Given the description of an element on the screen output the (x, y) to click on. 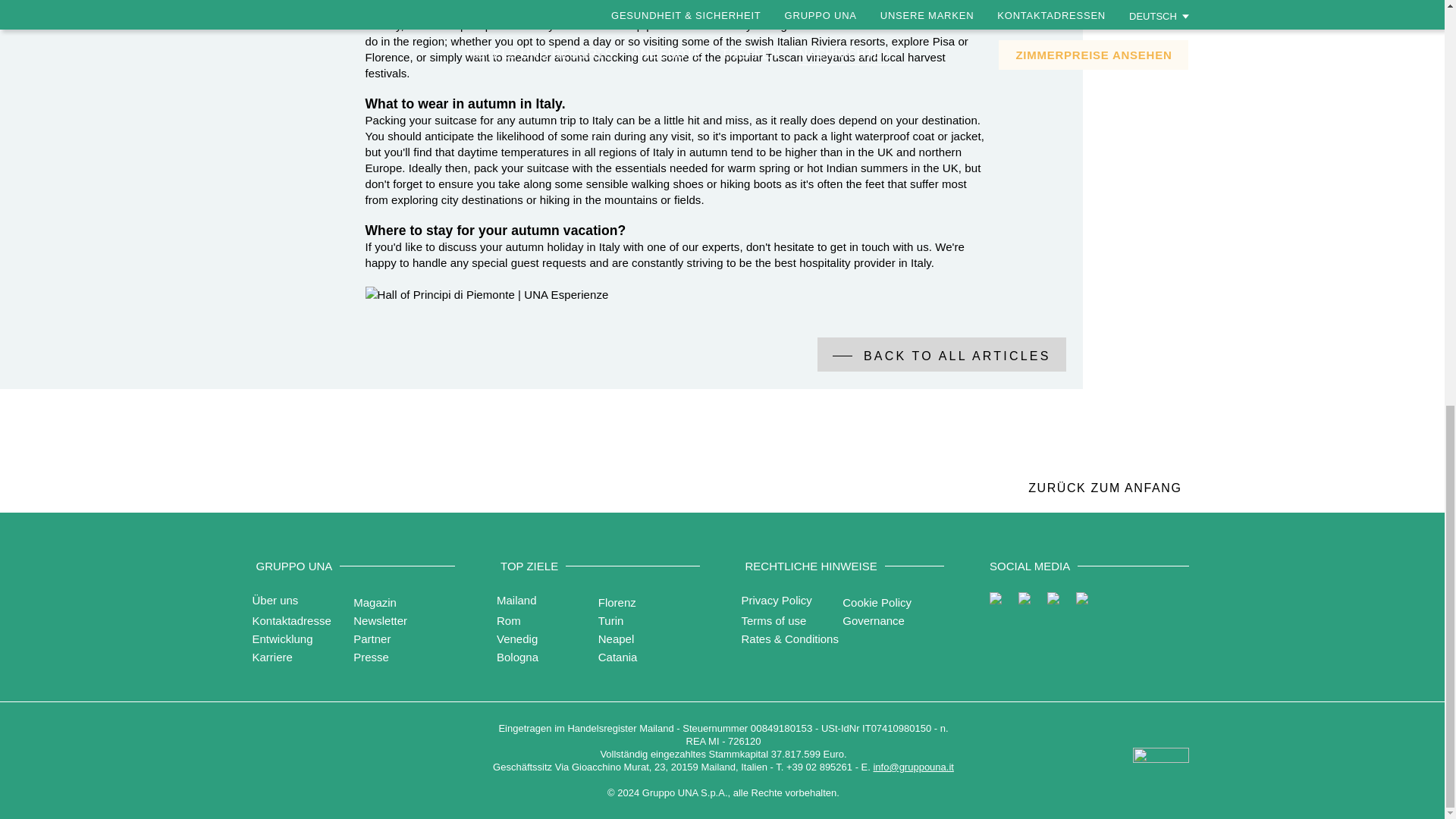
Partner (371, 638)
BACK TO ALL ARTICLES (940, 354)
Karriere (271, 656)
Kontaktadresse (290, 620)
Magazin (374, 602)
Entwicklung (282, 638)
Newsletter (380, 620)
